Given the description of an element on the screen output the (x, y) to click on. 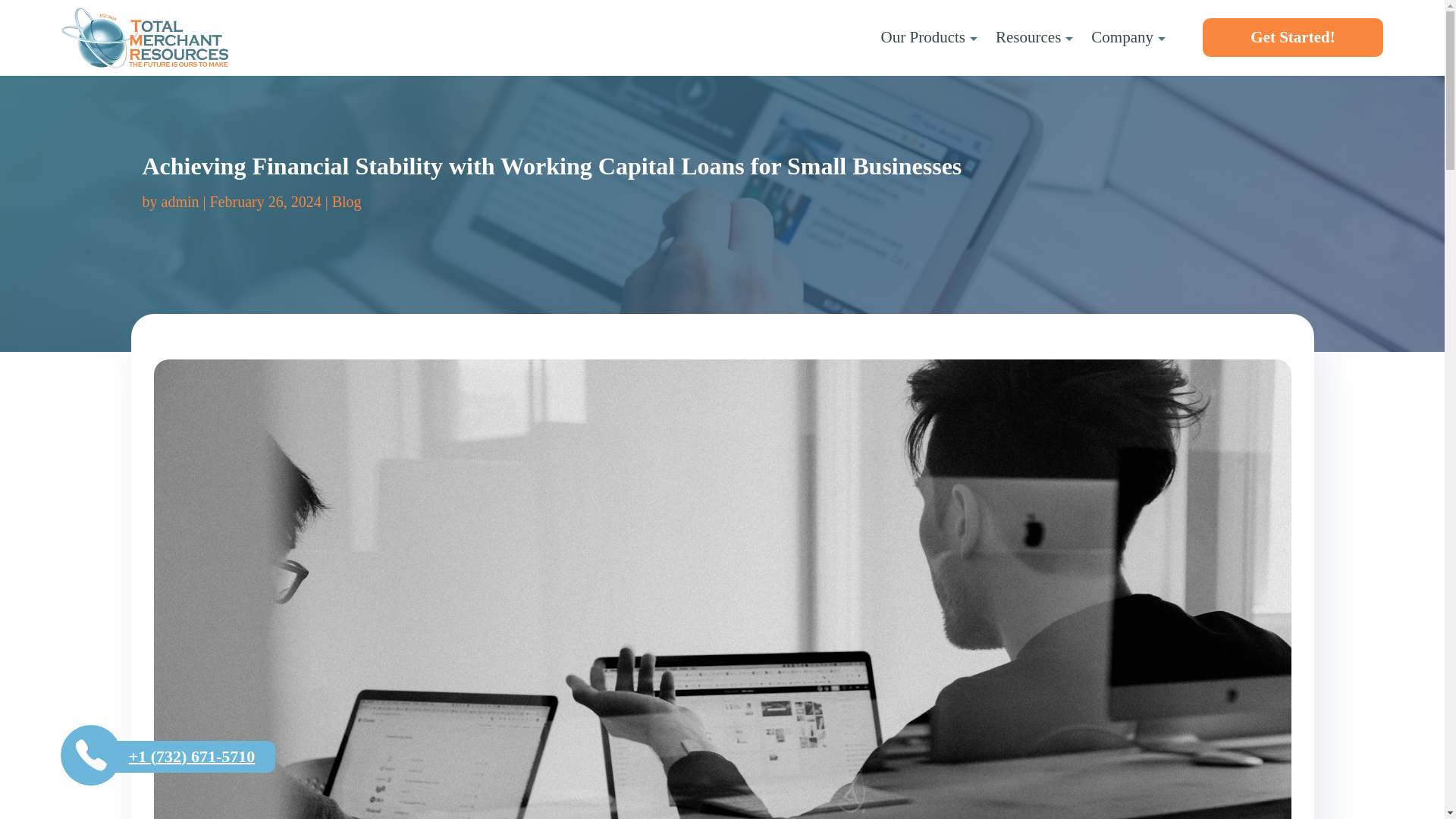
Get Started! (1292, 37)
Our Products (937, 36)
Resources (1042, 36)
Company (1136, 36)
